Given the description of an element on the screen output the (x, y) to click on. 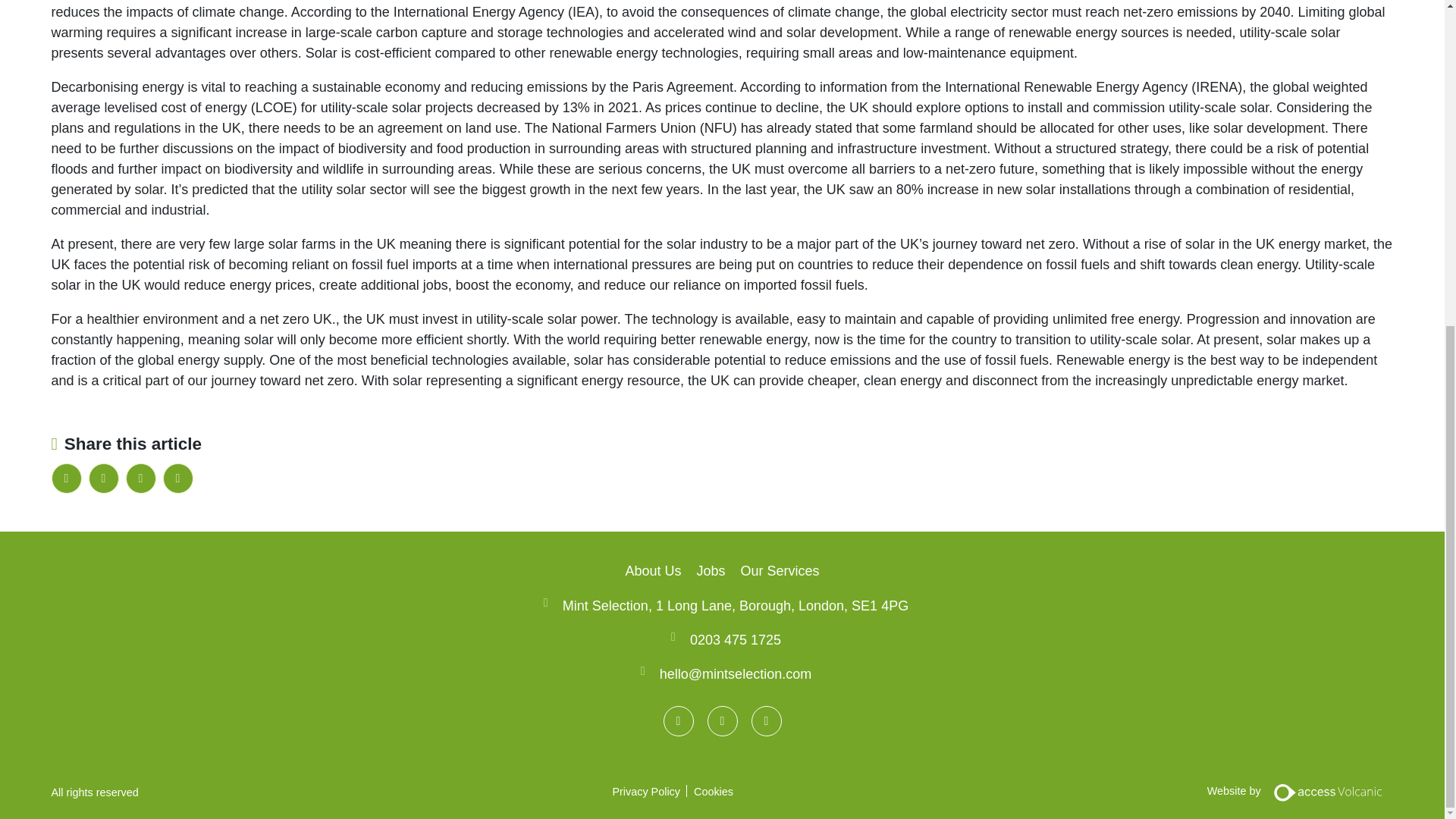
Facebook (102, 478)
LinkedIn (65, 478)
Email (176, 478)
Twitter (140, 478)
